Given the description of an element on the screen output the (x, y) to click on. 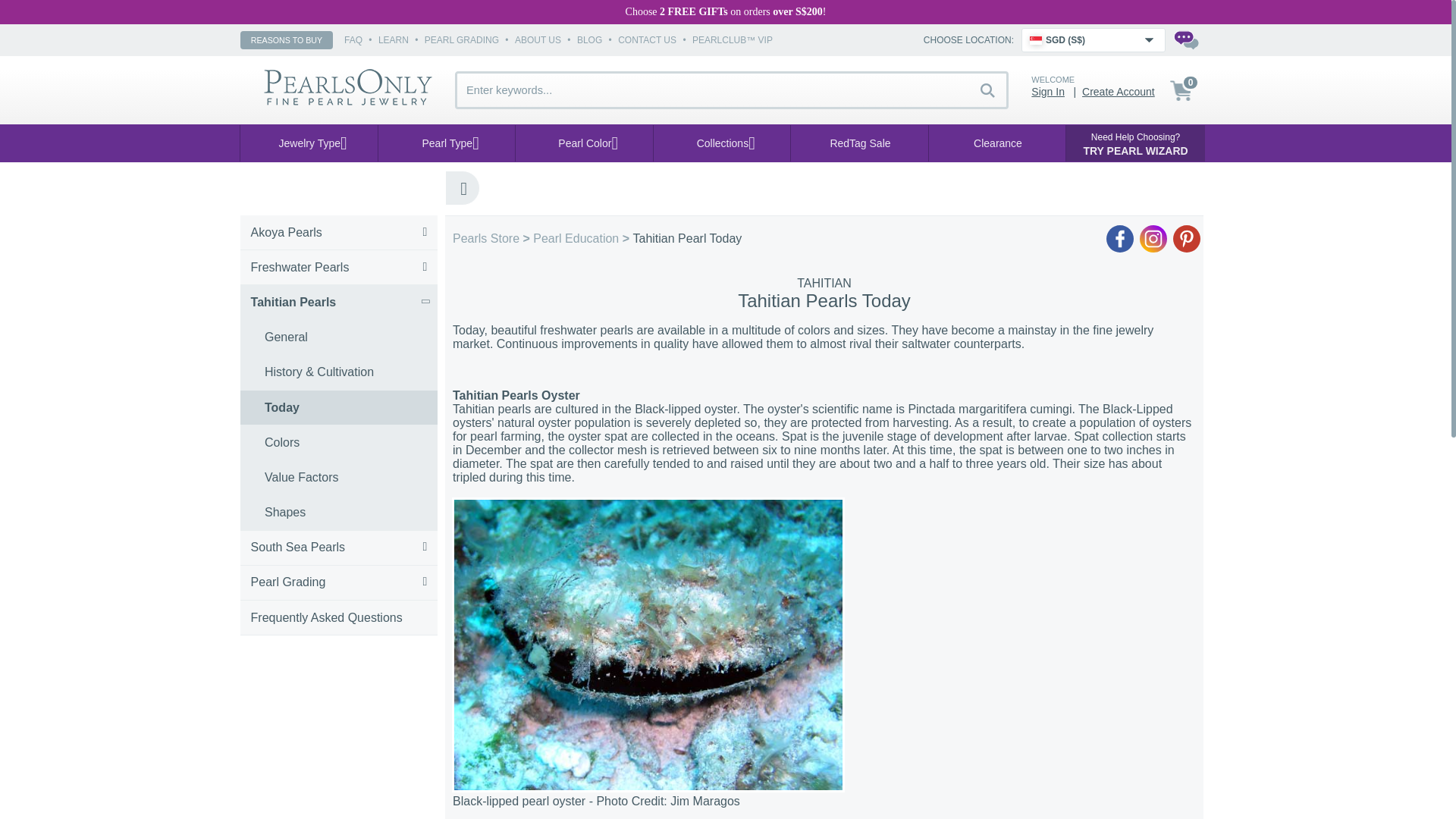
LEARN (393, 40)
Create Account (1117, 91)
Facebook (1120, 238)
Pinterest (1187, 238)
Contact us (1185, 39)
Frequently Asked Questions (339, 617)
Sign In (1047, 91)
ABOUT US (537, 40)
PEARL GRADING (462, 40)
Instagram (1153, 238)
REASONS TO BUY (286, 40)
BLOG (589, 40)
FAQ (352, 40)
CONTACT US (647, 40)
Create Account (1117, 91)
